Given the description of an element on the screen output the (x, y) to click on. 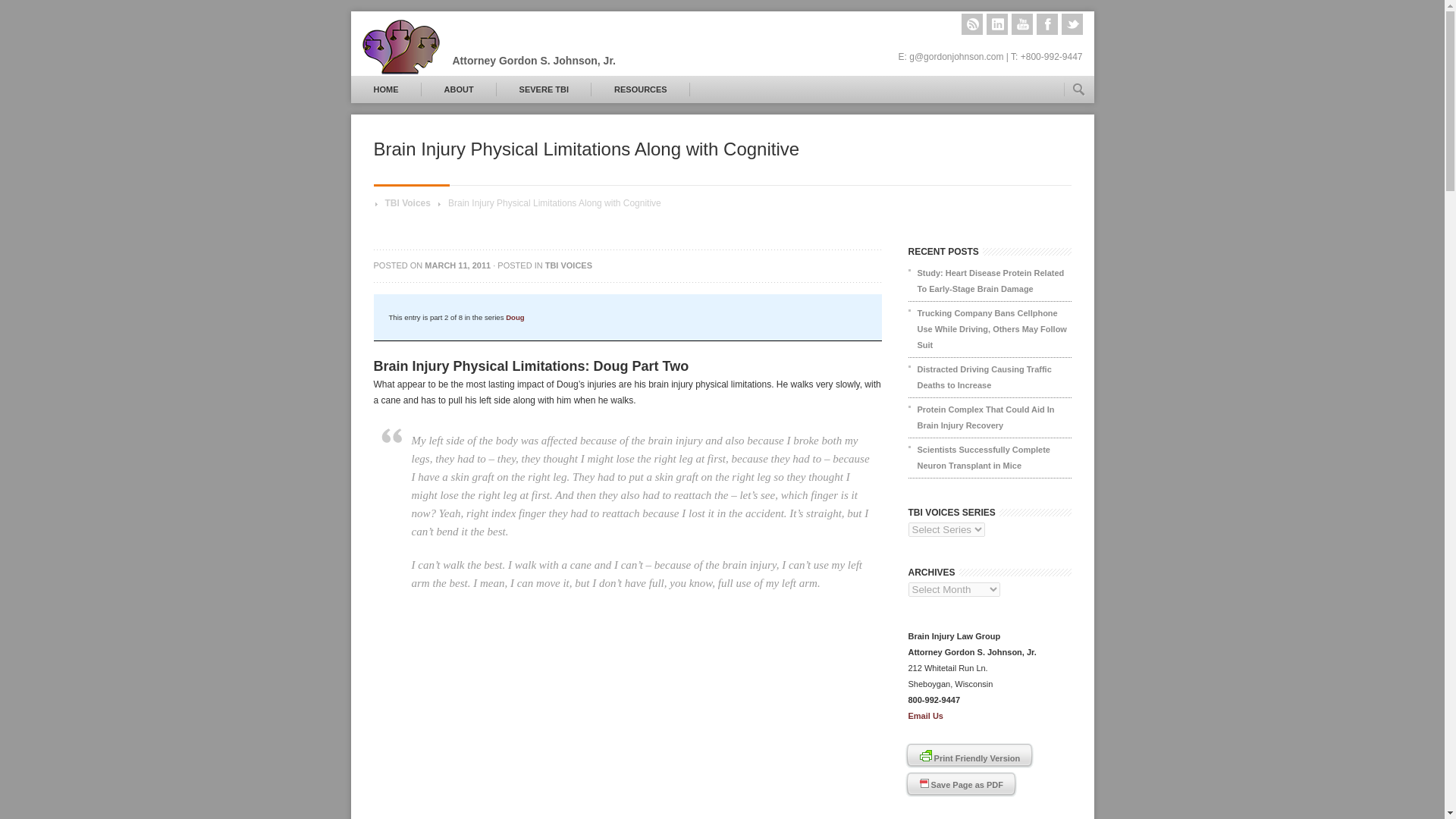
LINKEDIN (996, 24)
Protein Complex That Could Aid In Brain Injury Recovery (989, 418)
TWITTER (1072, 24)
RSS (971, 24)
HOME (385, 89)
Twitter (1072, 24)
Distracted Driving Causing Traffic Deaths to Increase (989, 377)
TBI VOICES (568, 265)
Doug (514, 316)
